Given the description of an element on the screen output the (x, y) to click on. 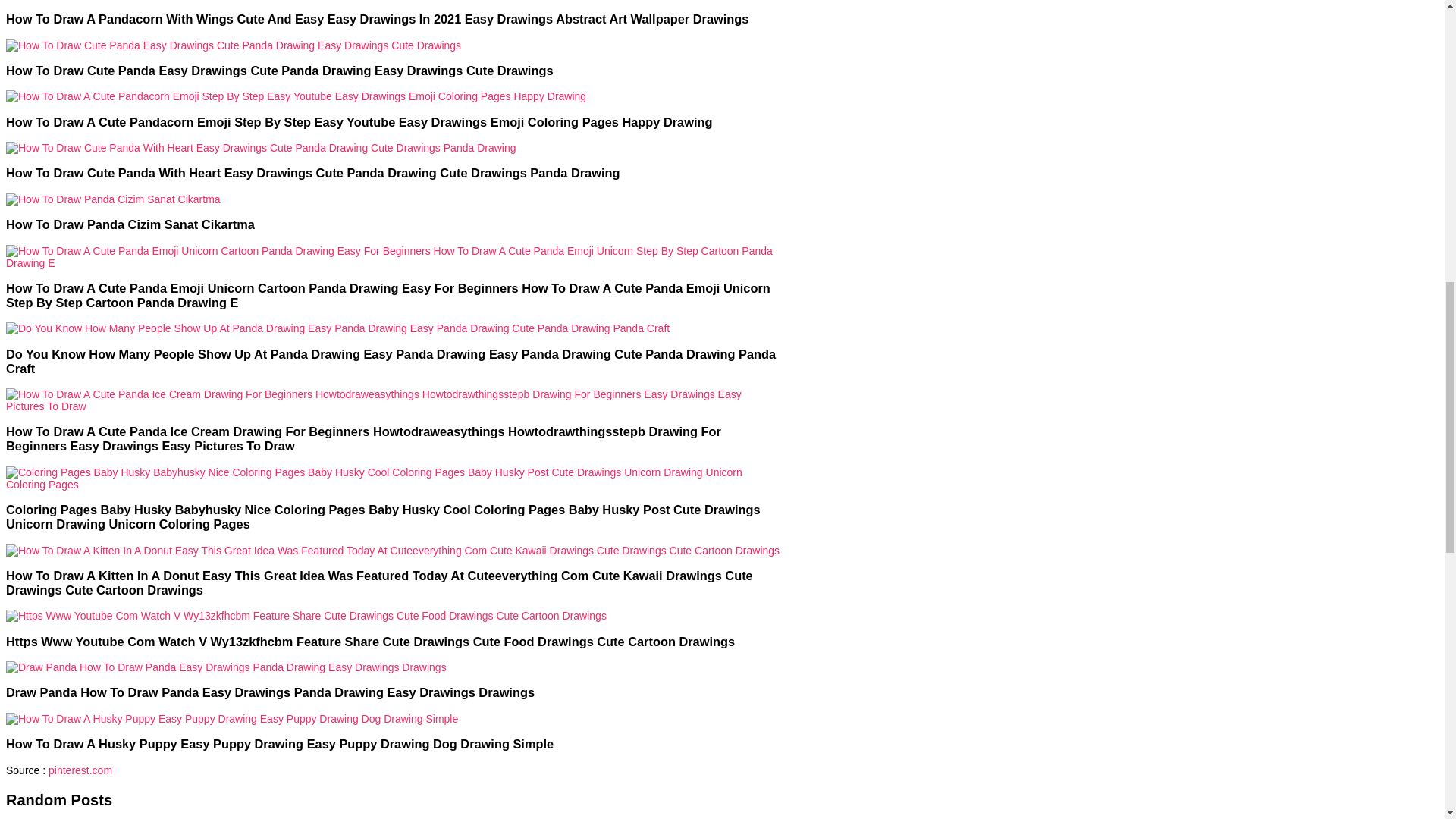
pinterest.com (80, 770)
